Given the description of an element on the screen output the (x, y) to click on. 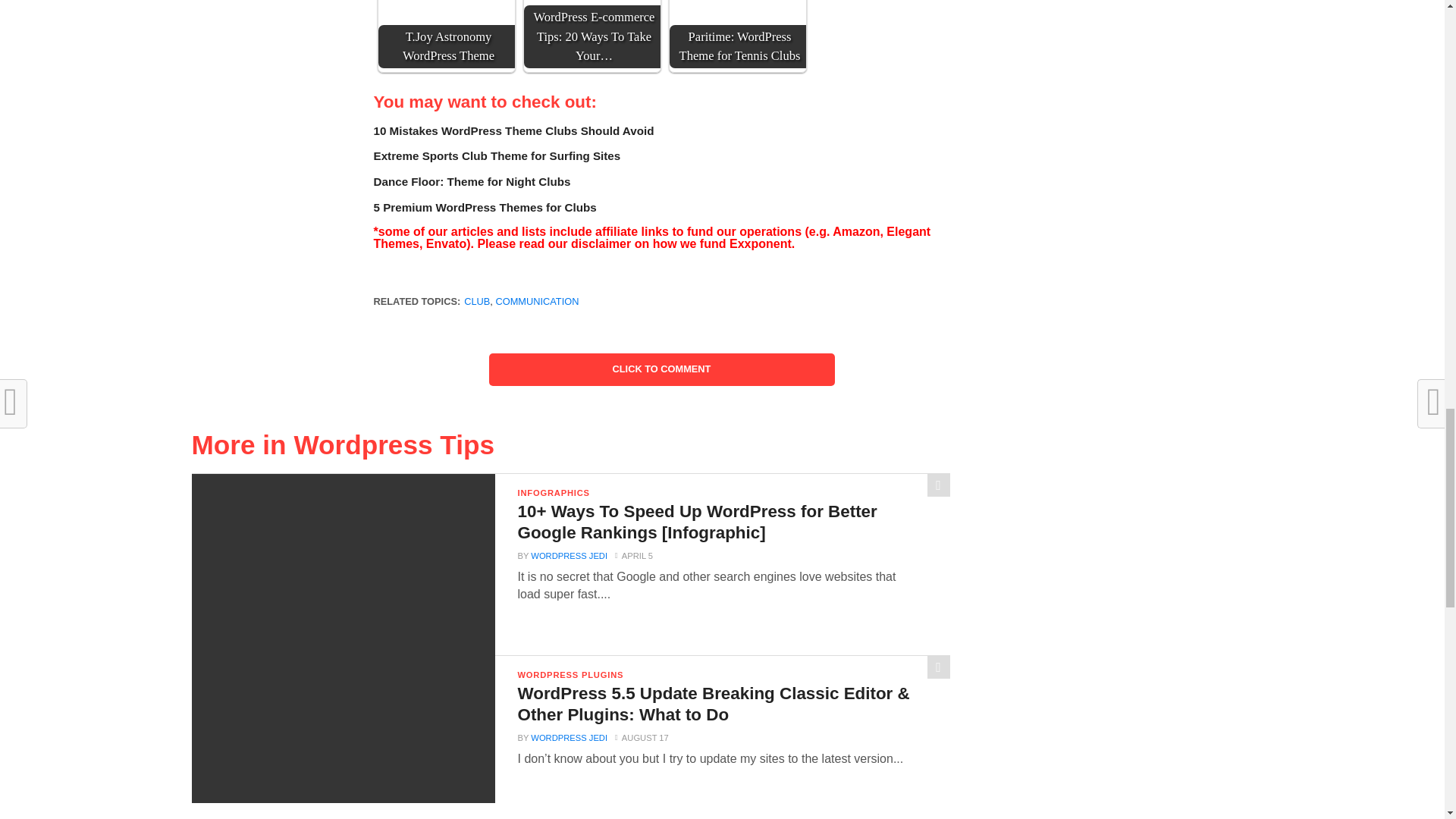
Paritime: WordPress Theme for Tennis Clubs (738, 7)
T.Joy Astronomy WordPress Theme (446, 7)
10 Mistakes WordPress Theme Clubs Should Avoid (512, 130)
